Given the description of an element on the screen output the (x, y) to click on. 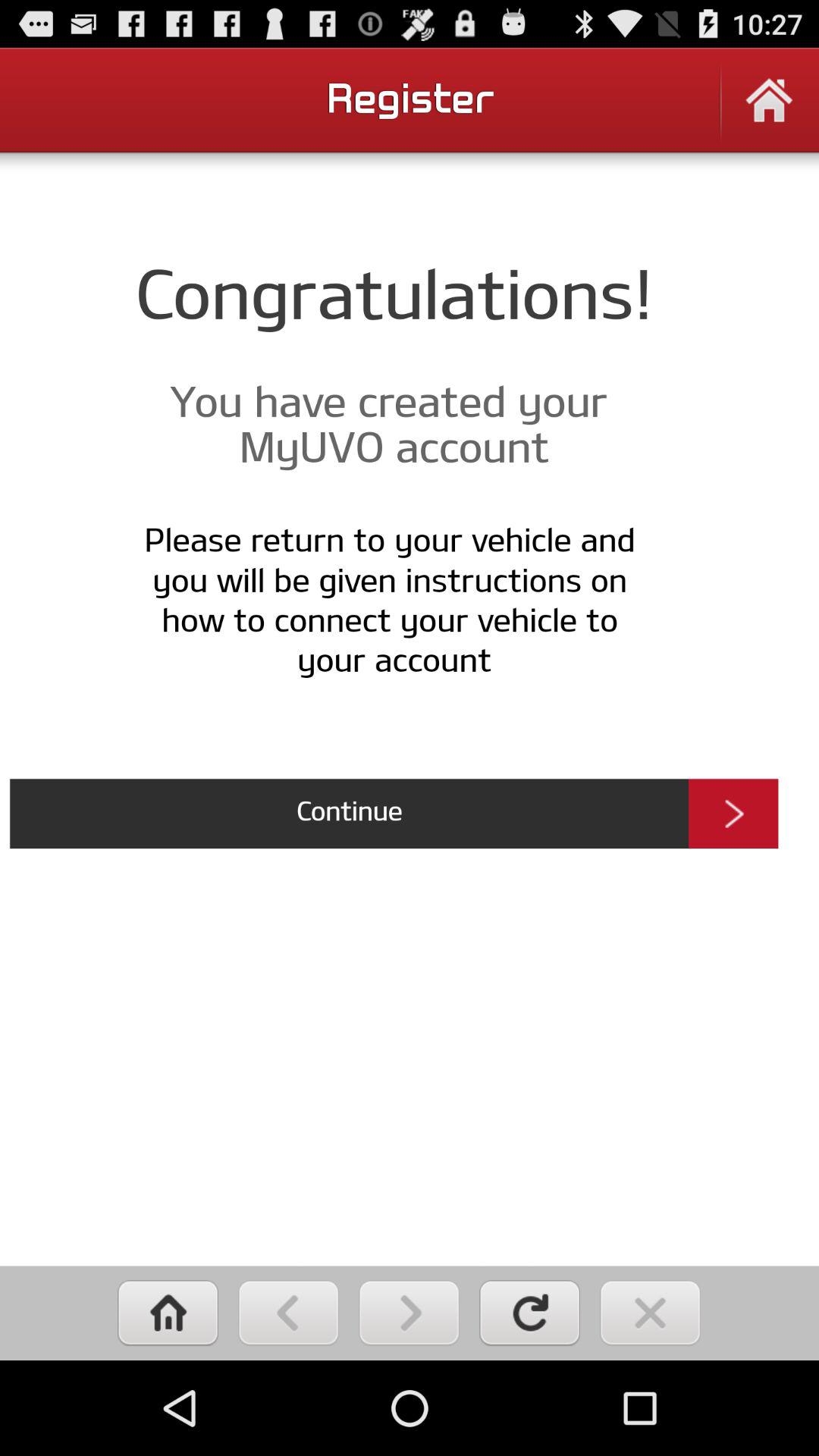
close app (650, 1313)
